Given the description of an element on the screen output the (x, y) to click on. 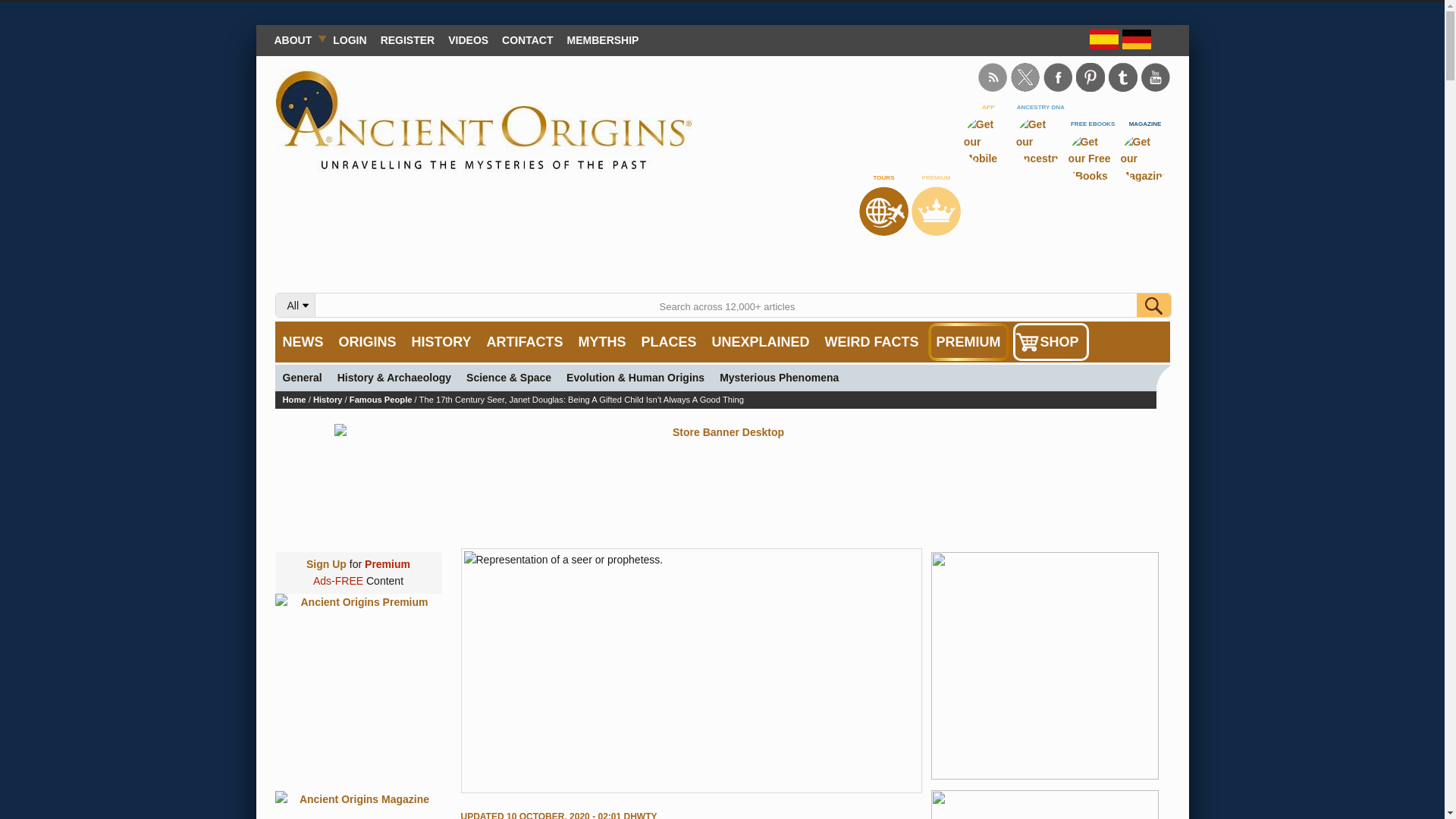
Our Mission (296, 40)
VIDEOS (468, 40)
ABOUT (296, 40)
Find (1152, 304)
MEMBERSHIP (603, 40)
CONTACT (526, 40)
LOGIN (349, 40)
REGISTER (408, 40)
Become a registered user (408, 40)
